Given the description of an element on the screen output the (x, y) to click on. 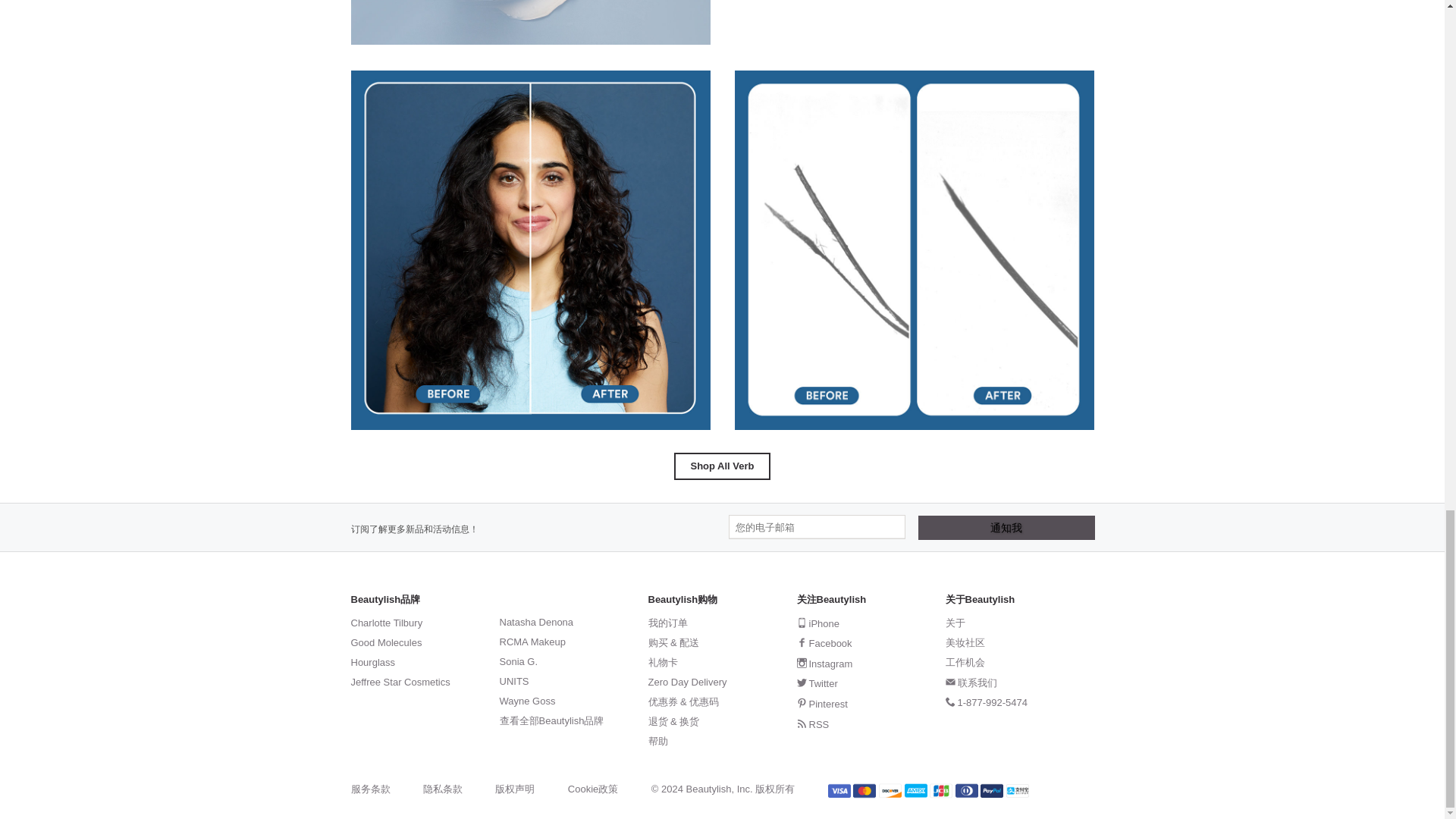
Verb Bonding Mask  (530, 22)
